Given the description of an element on the screen output the (x, y) to click on. 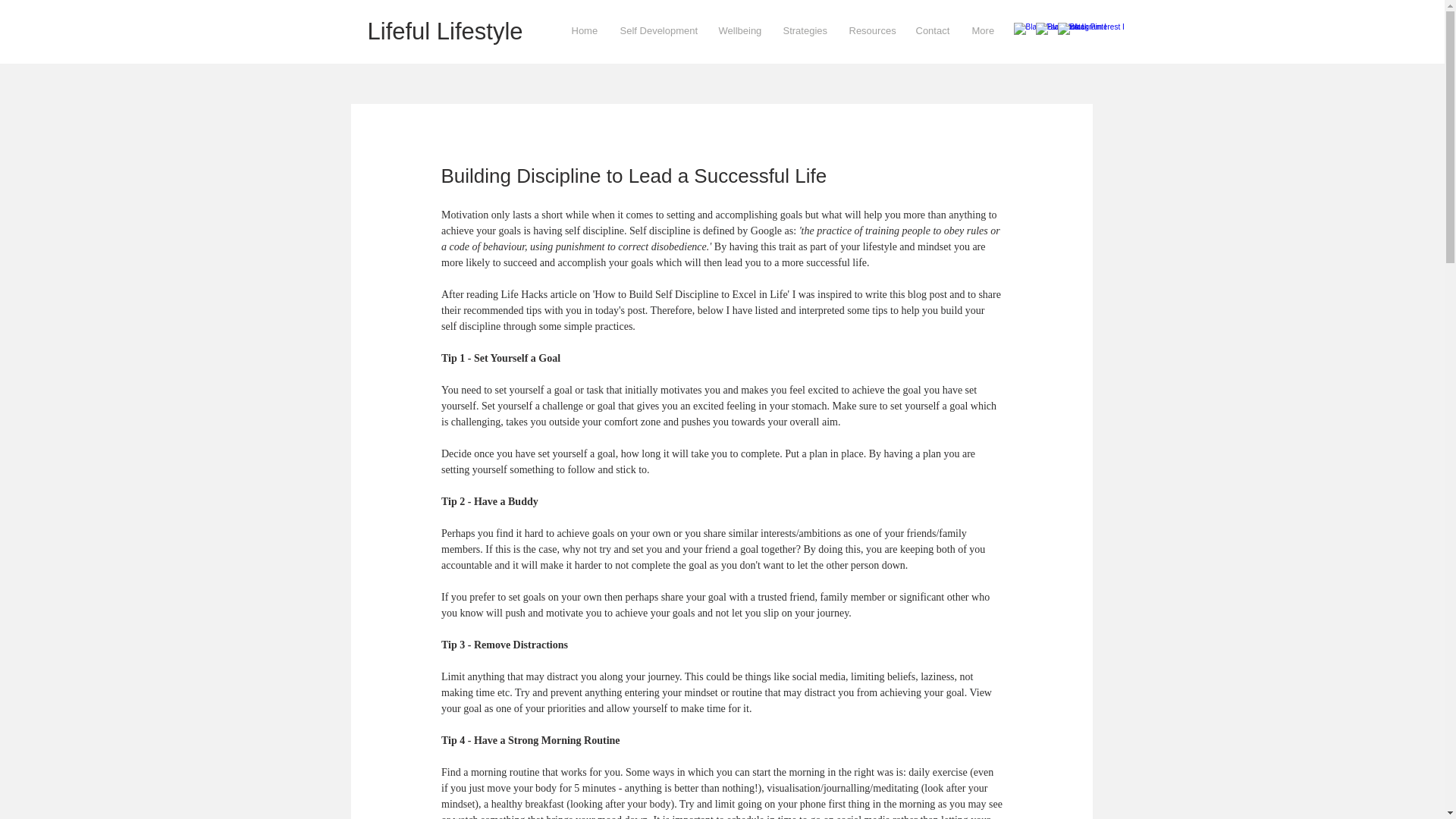
Self Development (657, 30)
Contact (931, 30)
Home (583, 30)
Lifeful Lifestyle (444, 31)
Wellbeing (738, 30)
Strategies (804, 30)
Resources (870, 30)
